Given the description of an element on the screen output the (x, y) to click on. 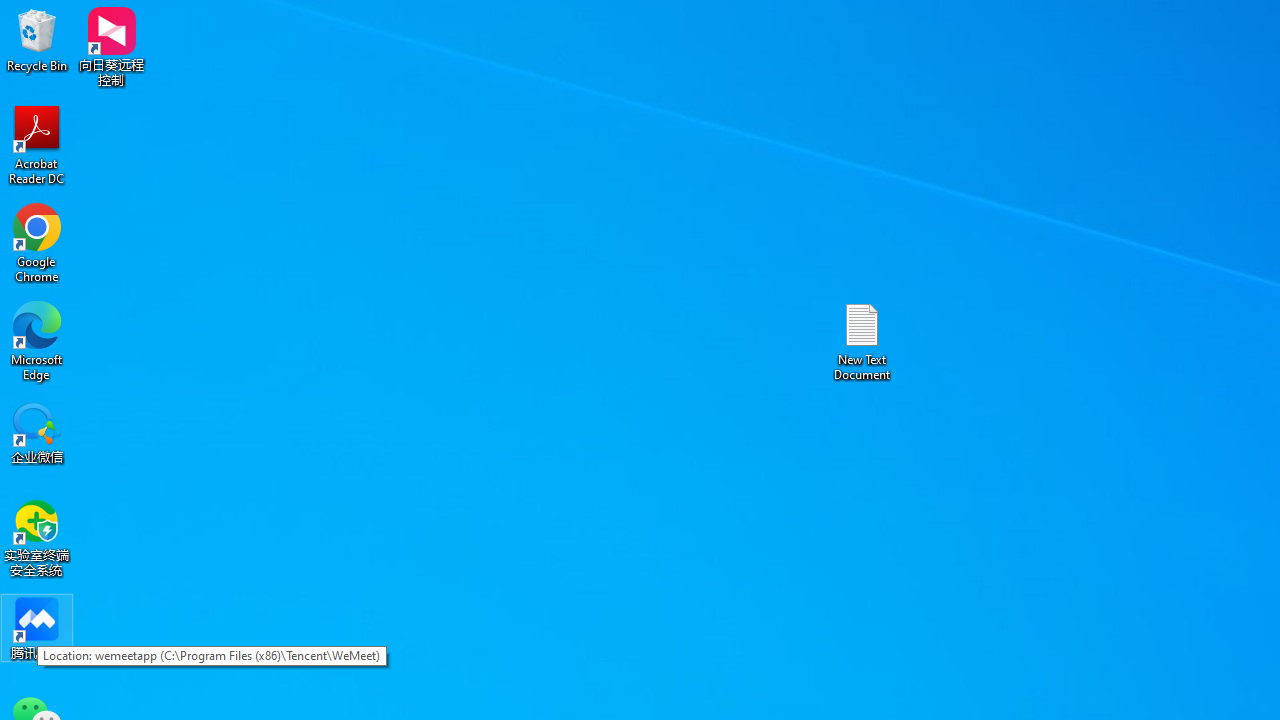
Google Chrome (37, 242)
Acrobat Reader DC (37, 144)
Recycle Bin (37, 39)
New Text Document (861, 340)
Microsoft Edge (37, 340)
